Given the description of an element on the screen output the (x, y) to click on. 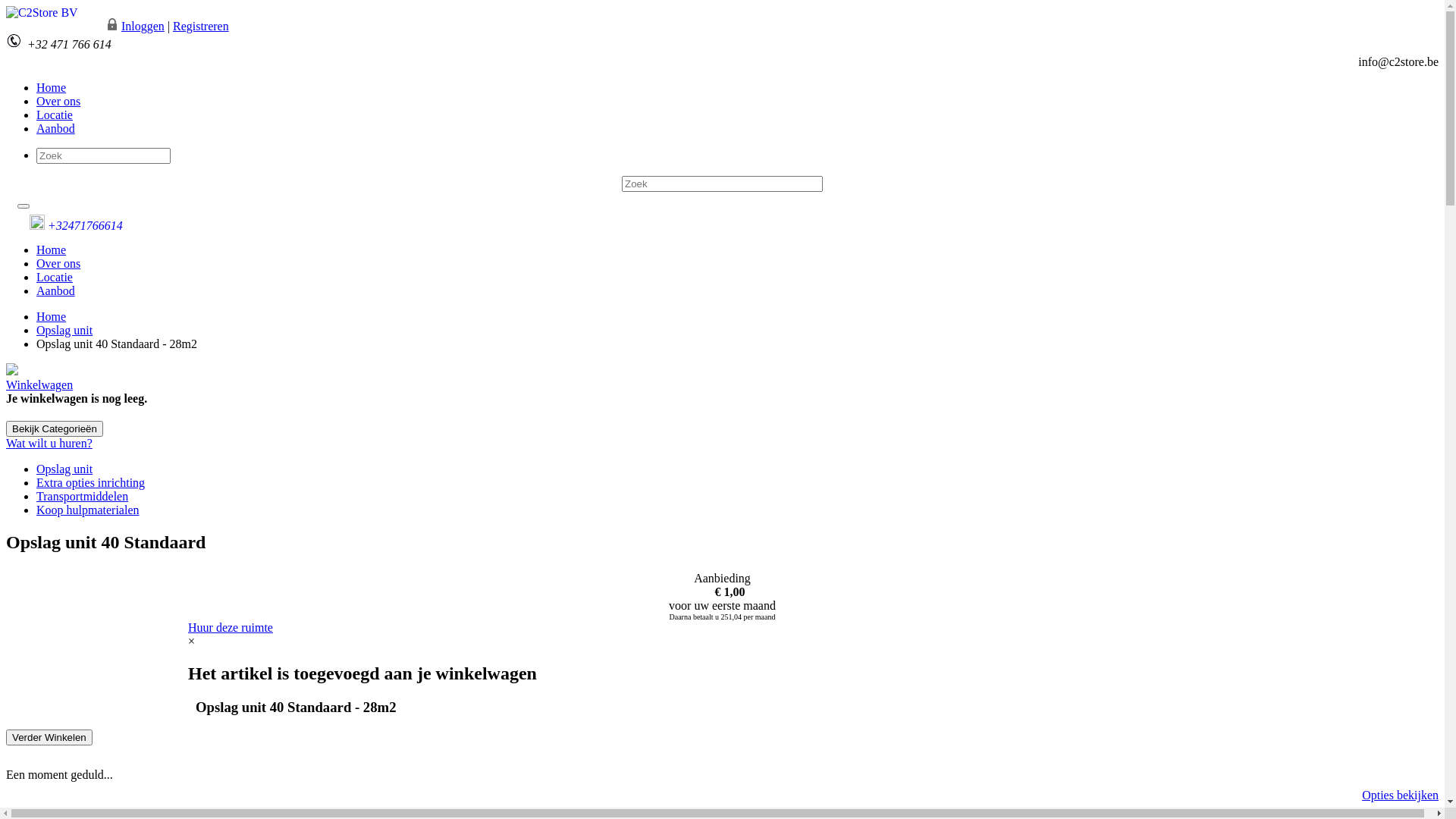
Registreren Element type: text (200, 25)
Inloggen Element type: text (142, 25)
Verder Winkelen Element type: text (49, 737)
Aanbod Element type: text (55, 290)
Wat wilt u huren? Element type: text (49, 442)
Locatie Element type: text (54, 114)
Home Element type: text (50, 316)
Winkelwagen (0) Element type: text (48, 25)
Over ons Element type: text (58, 100)
Opslag unit Element type: text (64, 468)
Locatie Element type: text (54, 276)
Opslag unit Element type: text (64, 329)
Huur deze ruimte Element type: text (230, 627)
Winkelwagen Element type: text (39, 384)
Transportmiddelen Element type: text (82, 495)
Extra opties inrichting Element type: text (90, 482)
Aanbod Element type: text (55, 128)
Home Element type: text (50, 249)
Koop hulpmaterialen Element type: text (87, 509)
Zoek Element type: text (17, 7)
Opties bekijken Element type: text (1399, 794)
Home Element type: text (50, 87)
Over ons Element type: text (58, 263)
Naar Winkelwagen Element type: text (48, 7)
